Given the description of an element on the screen output the (x, y) to click on. 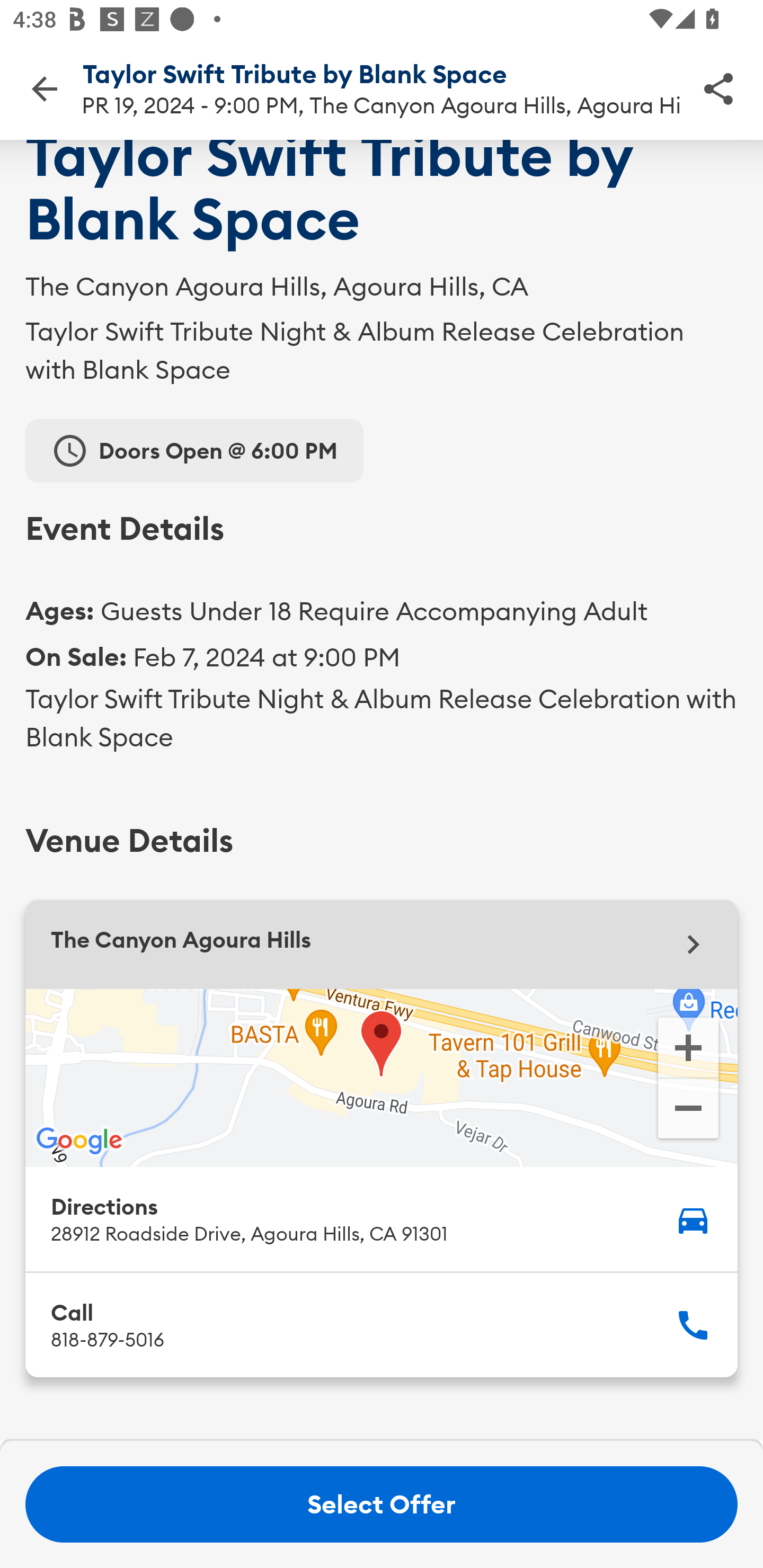
BackButton (44, 88)
Share (718, 88)
The Canyon Agoura Hills (381, 944)
Zoom in (687, 1046)
Zoom out (687, 1110)
Call 818-879-5016 (381, 1324)
Select Offer (381, 1504)
